Given the description of an element on the screen output the (x, y) to click on. 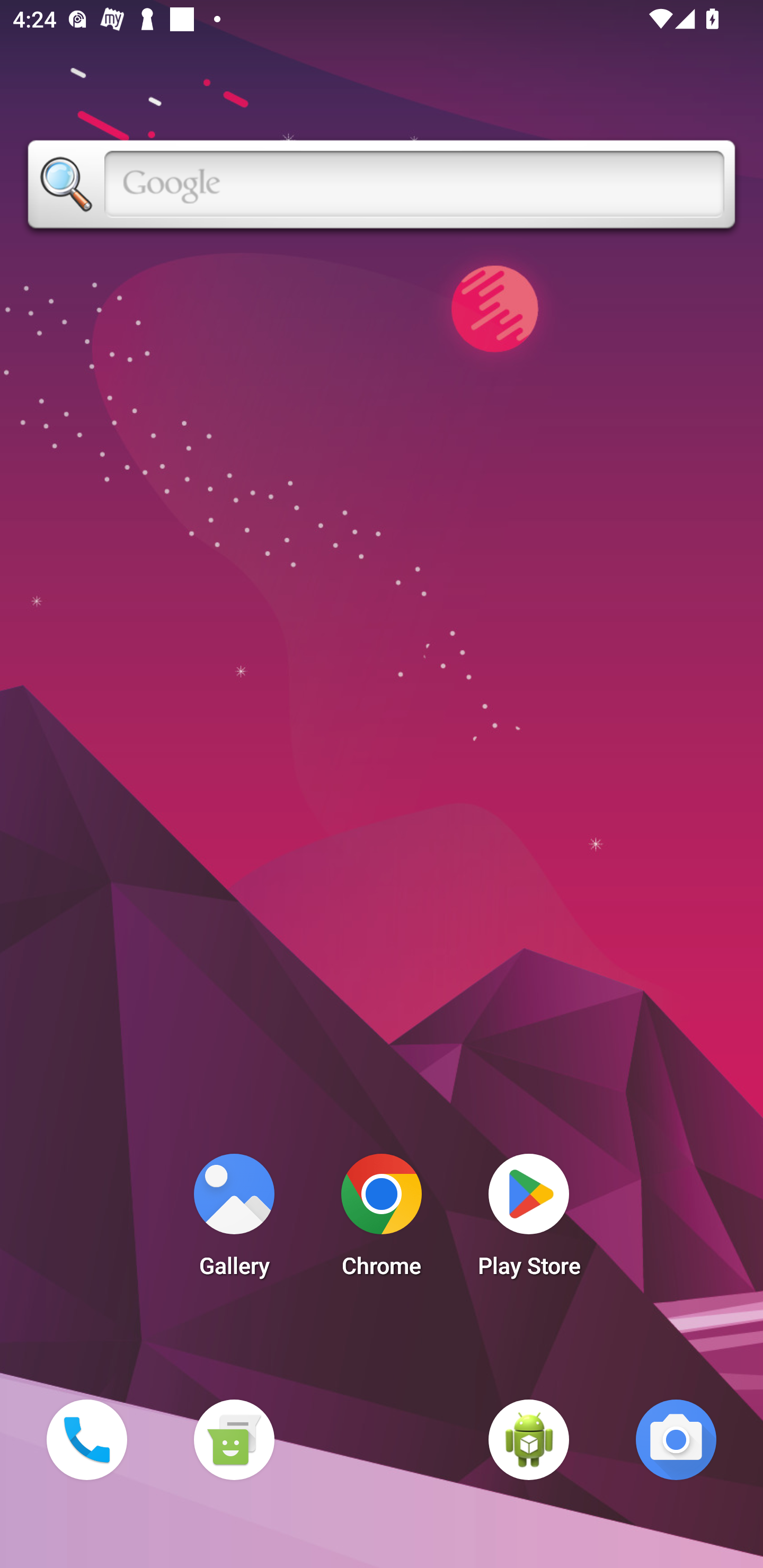
Gallery (233, 1220)
Chrome (381, 1220)
Play Store (528, 1220)
Phone (86, 1439)
Messaging (233, 1439)
WebView Browser Tester (528, 1439)
Camera (676, 1439)
